Given the description of an element on the screen output the (x, y) to click on. 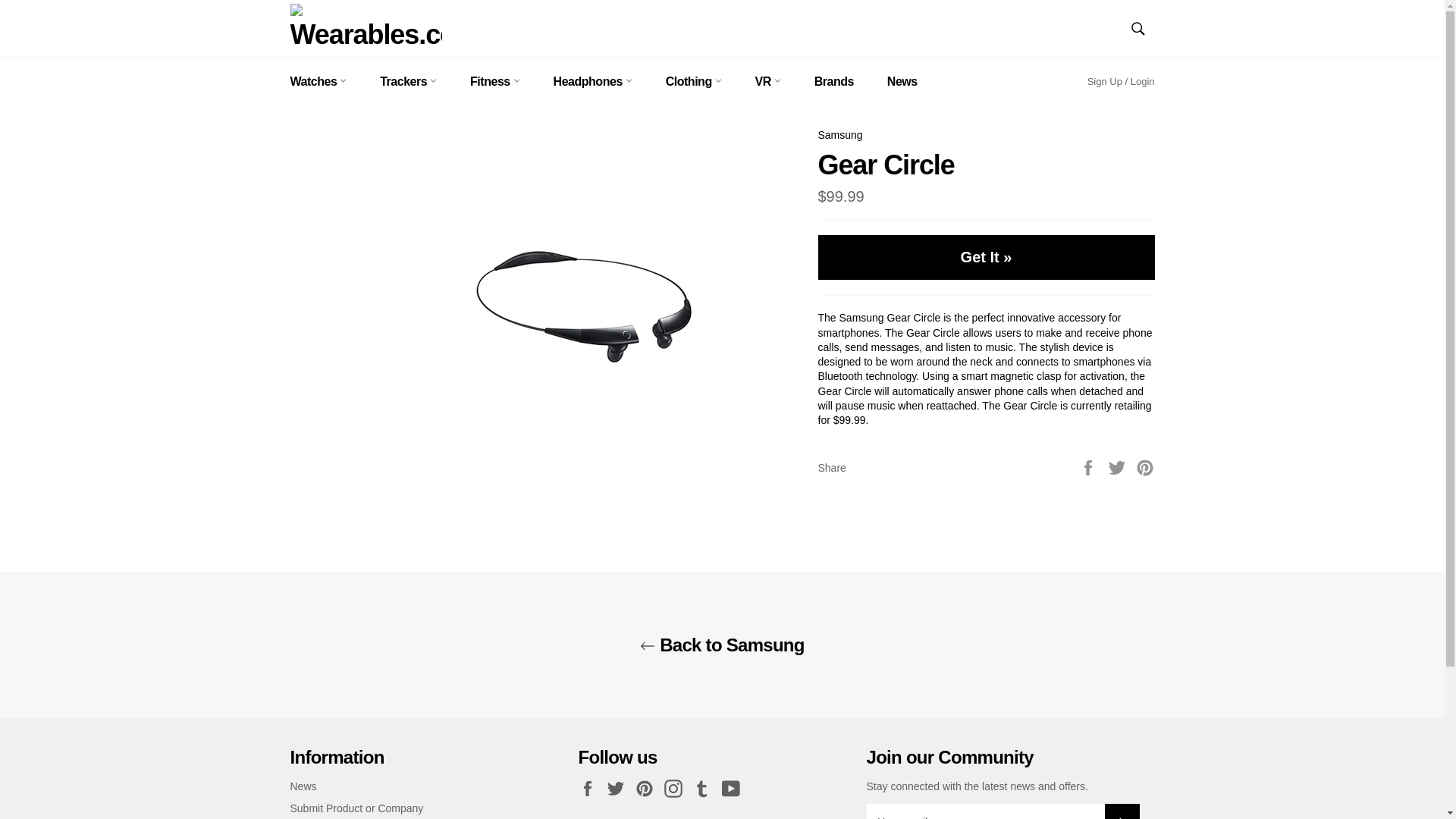
Wearables.com on Tumblr (706, 788)
Wearables.com on YouTube (735, 788)
Wearables.com on Twitter (619, 788)
Wearables.com on Pinterest (647, 788)
Wearables.com on Instagram (676, 788)
Wearables.com on Facebook (591, 788)
Share on Facebook (1089, 467)
Pin on Pinterest (1144, 467)
Tweet on Twitter (1118, 467)
